Given the description of an element on the screen output the (x, y) to click on. 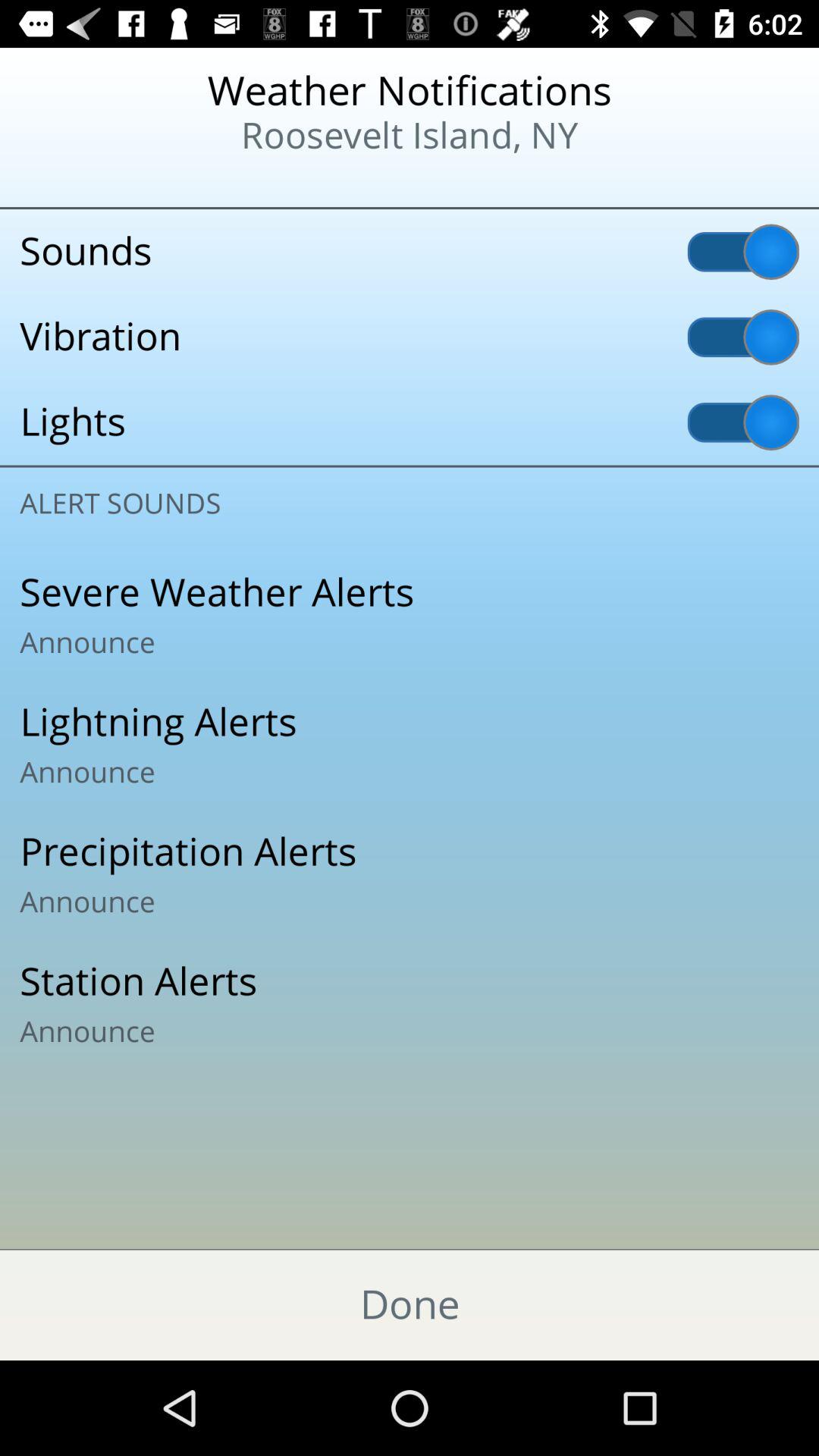
turn on the item above the lightning alerts
announce icon (409, 615)
